Given the description of an element on the screen output the (x, y) to click on. 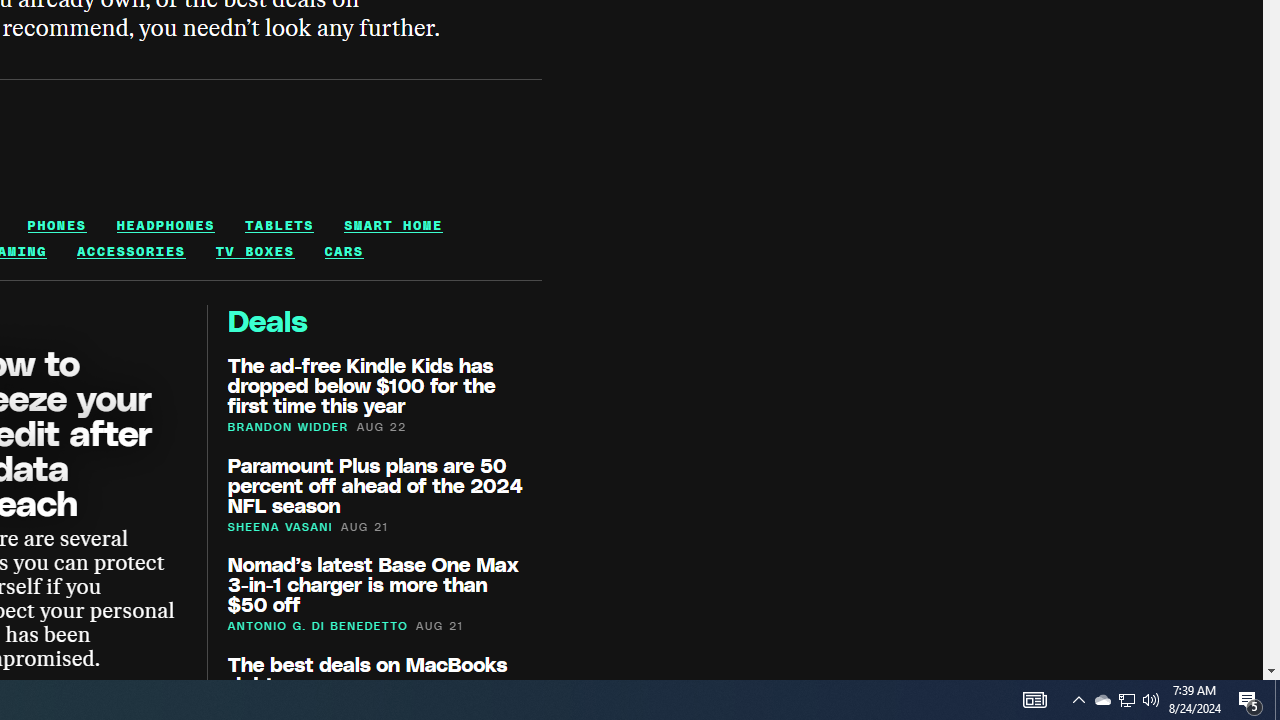
CARS (343, 251)
